Given the description of an element on the screen output the (x, y) to click on. 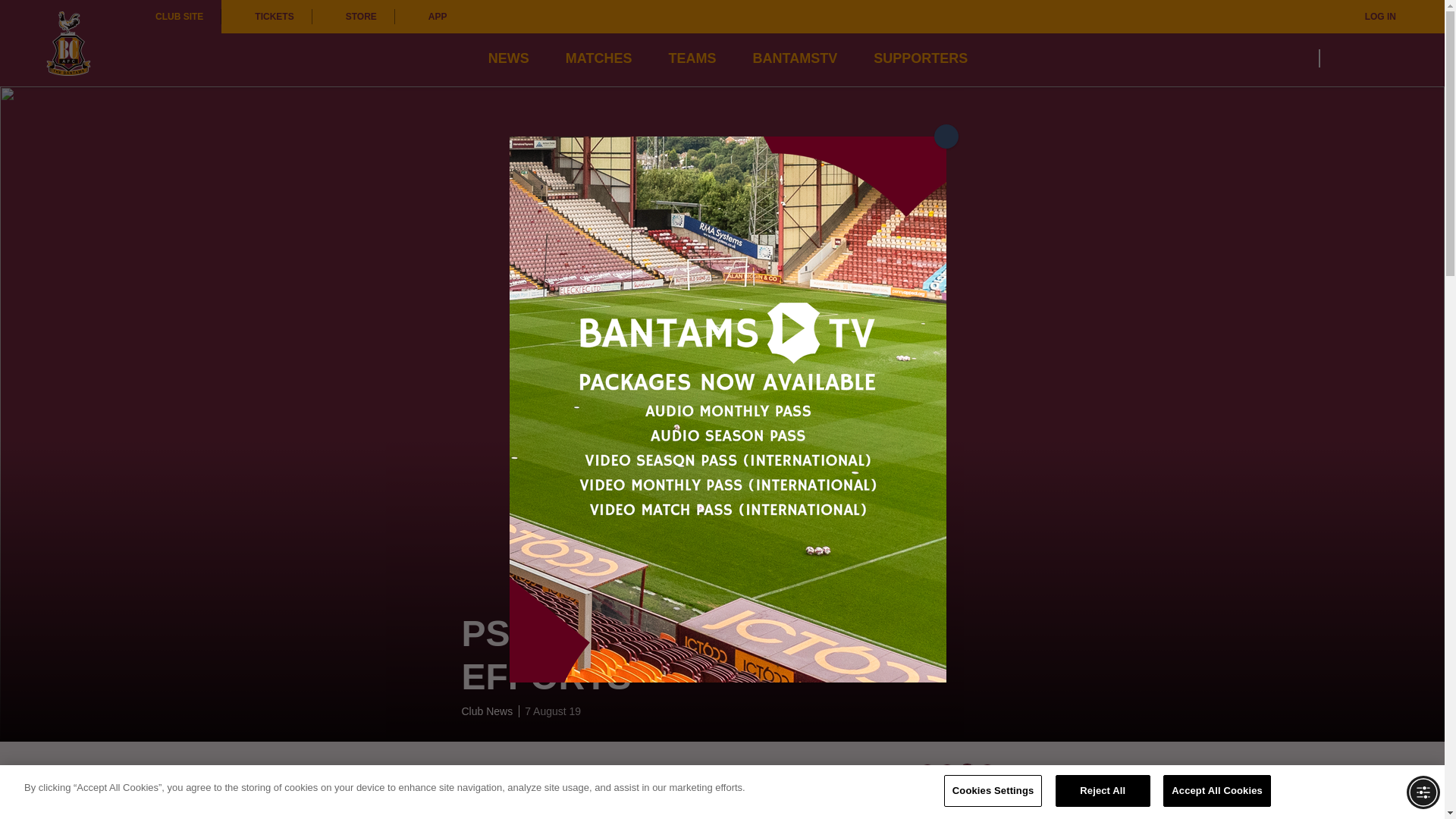
LOG IN (1369, 16)
CLUB SITE (178, 16)
APP (429, 16)
SUPPORTERS (920, 58)
STORE (353, 16)
TEAMS (692, 58)
TICKETS (266, 16)
Accessibility Menu (1422, 792)
BANTAMSTV (794, 58)
MATCHES (598, 58)
